Given the description of an element on the screen output the (x, y) to click on. 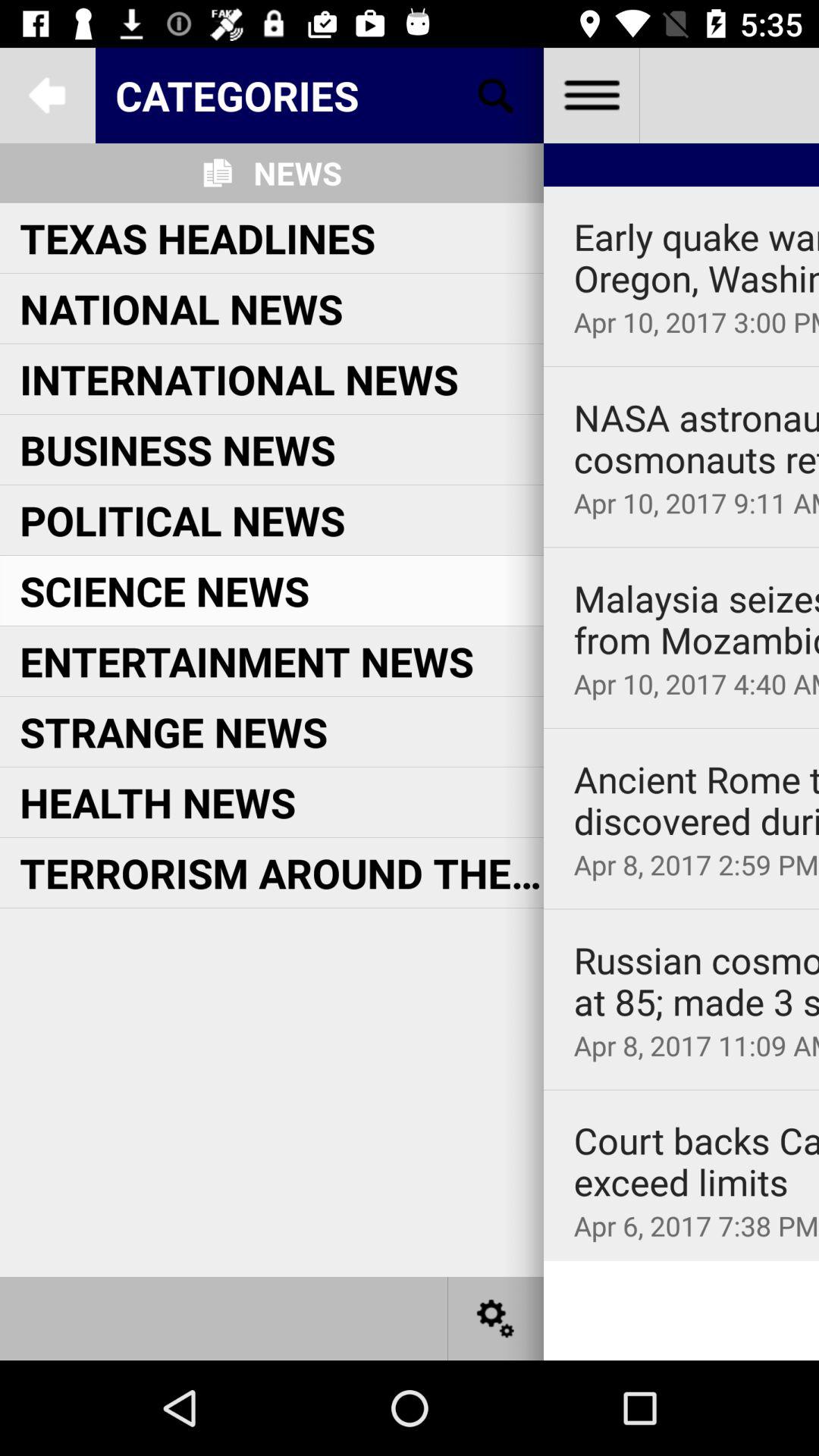
settings (495, 1318)
